Given the description of an element on the screen output the (x, y) to click on. 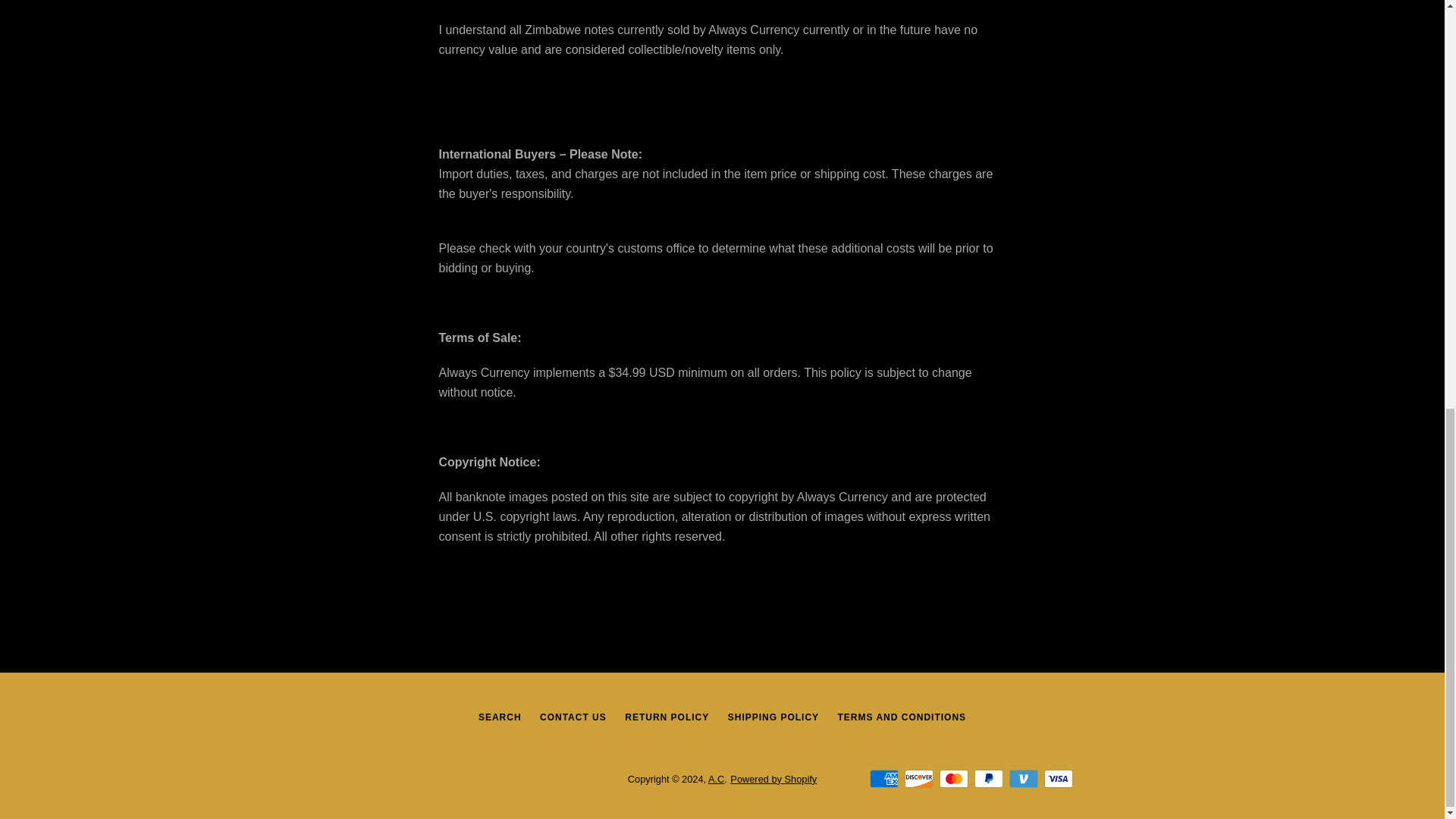
PayPal (988, 778)
American Express (883, 778)
Visa (1057, 778)
Discover (918, 778)
Mastercard (953, 778)
Venmo (1022, 778)
